Given the description of an element on the screen output the (x, y) to click on. 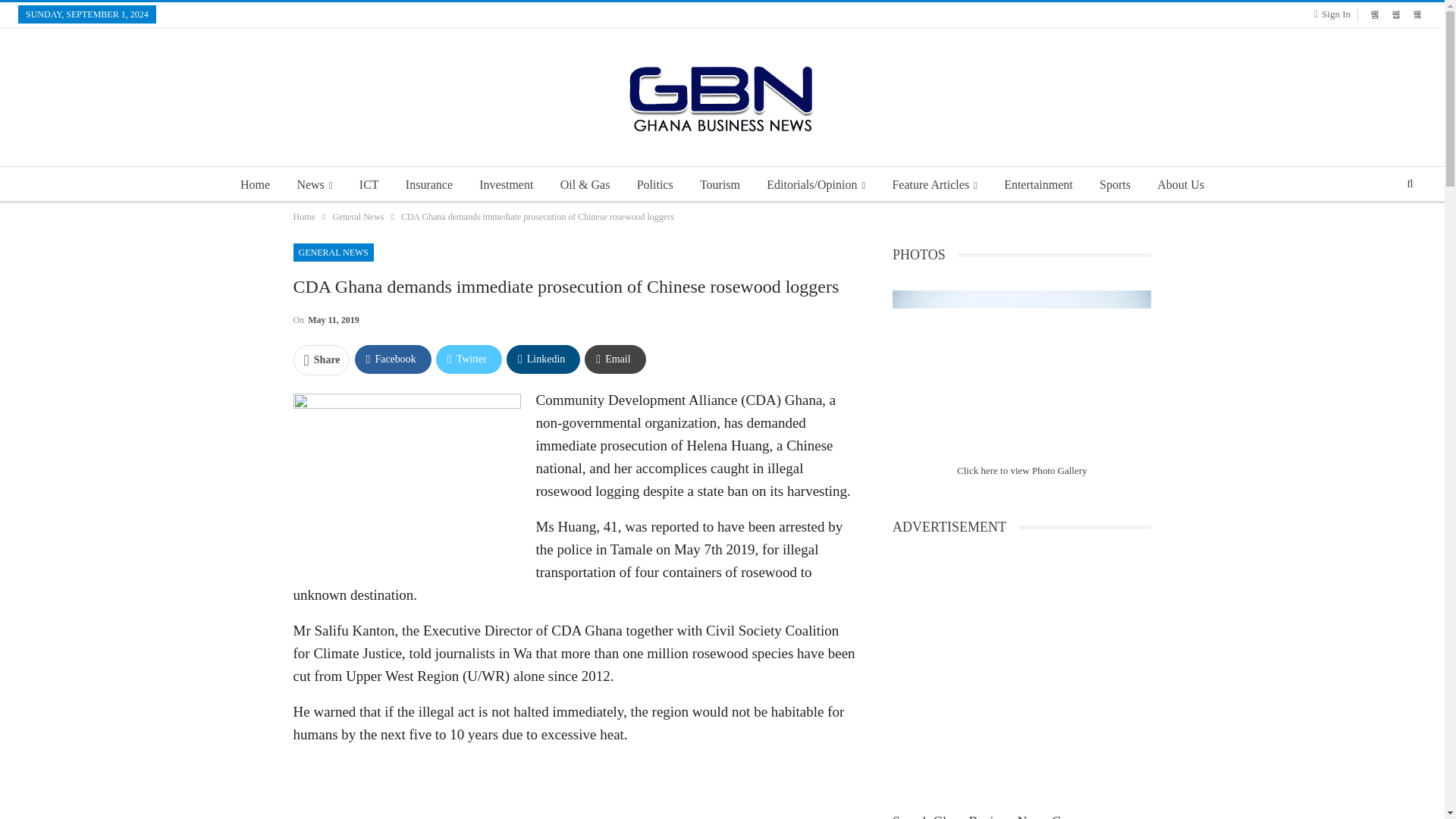
Insurance (428, 185)
GENERAL NEWS (333, 252)
Sign In (1335, 13)
Politics (654, 185)
Sports (1115, 185)
Home (303, 216)
Facebook (392, 358)
Home (255, 185)
13th-African-games-5 (1021, 376)
News (313, 185)
